Given the description of an element on the screen output the (x, y) to click on. 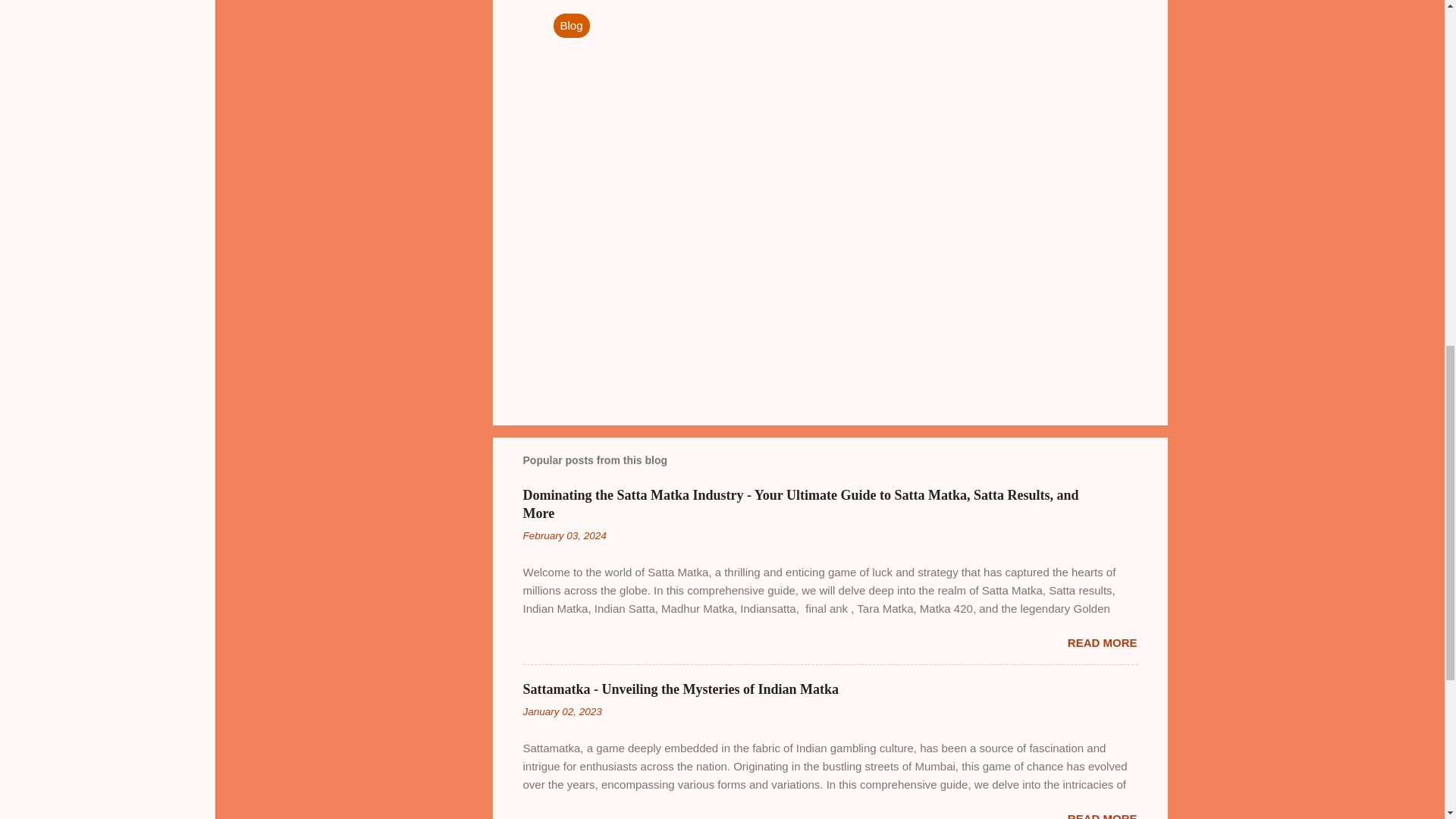
Sattamatka - Unveiling the Mysteries of Indian Matka (681, 688)
permanent link (564, 535)
February 03, 2024 (564, 535)
READ MORE (1102, 642)
READ MORE (1102, 815)
Blog (571, 25)
January 02, 2023 (562, 711)
